Given the description of an element on the screen output the (x, y) to click on. 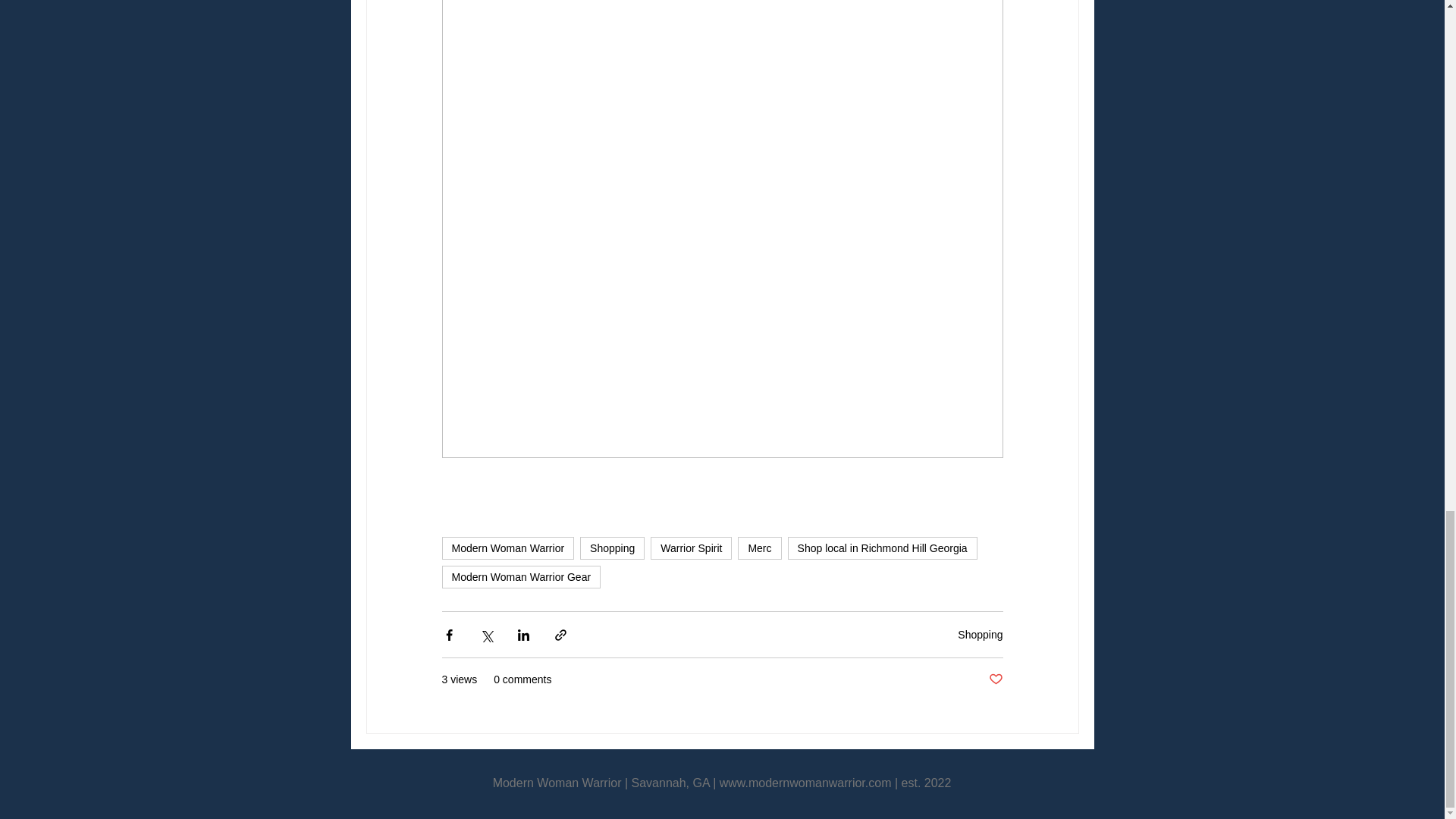
Shop local in Richmond Hill Georgia (881, 548)
Modern Woman Warrior Gear (520, 576)
Modern Woman Warrior (507, 548)
Shopping (612, 548)
Warrior Spirit (691, 548)
Post not marked as liked (995, 679)
Merc (759, 548)
www.modernwomanwarrior.com (805, 782)
Shopping (980, 634)
